Given the description of an element on the screen output the (x, y) to click on. 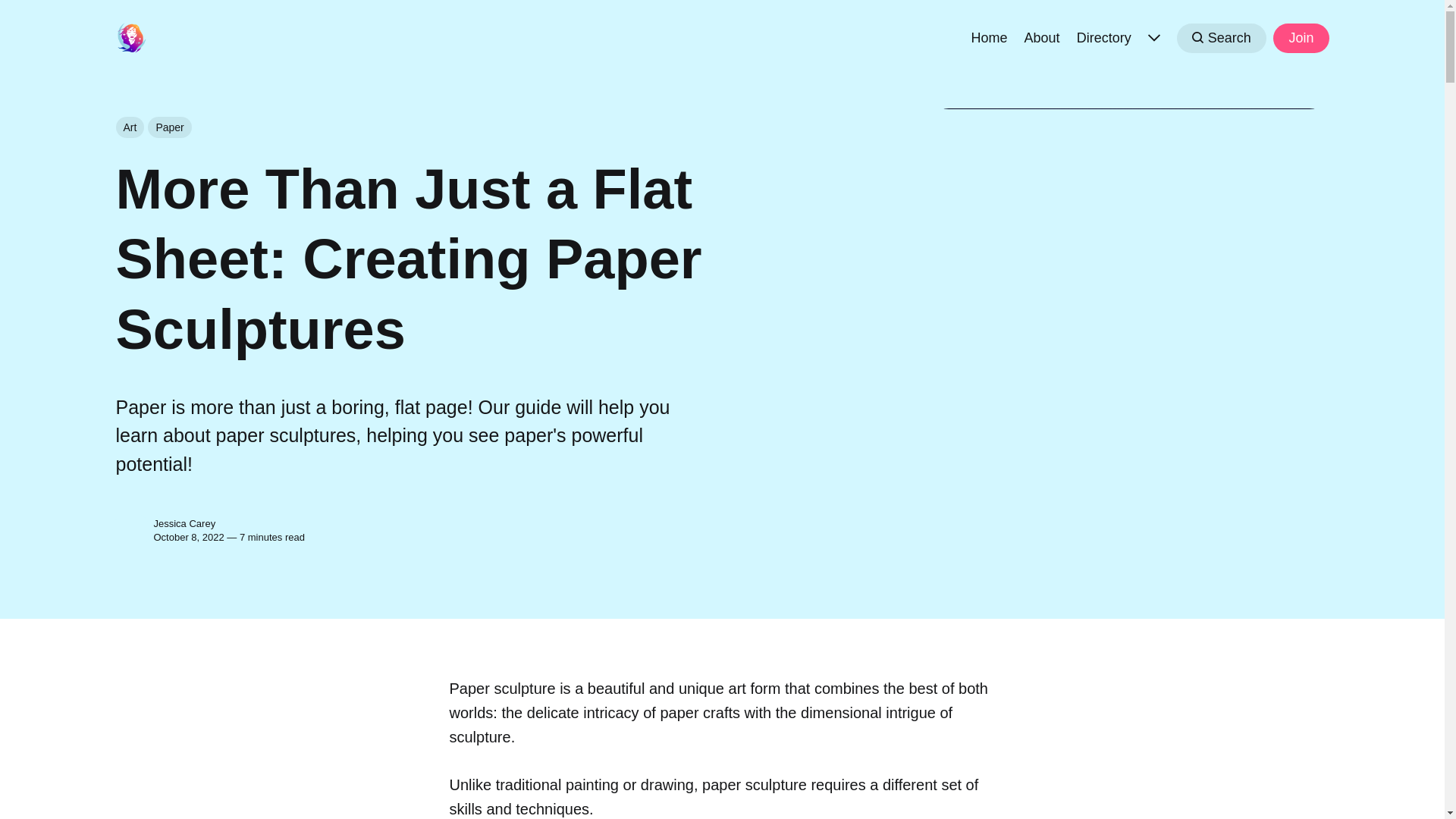
Jessica Carey (130, 530)
Jessica Carey (183, 523)
Join (1299, 37)
About (1042, 37)
Paper (169, 127)
Art (129, 127)
Home (989, 37)
Directory (1104, 37)
